Given the description of an element on the screen output the (x, y) to click on. 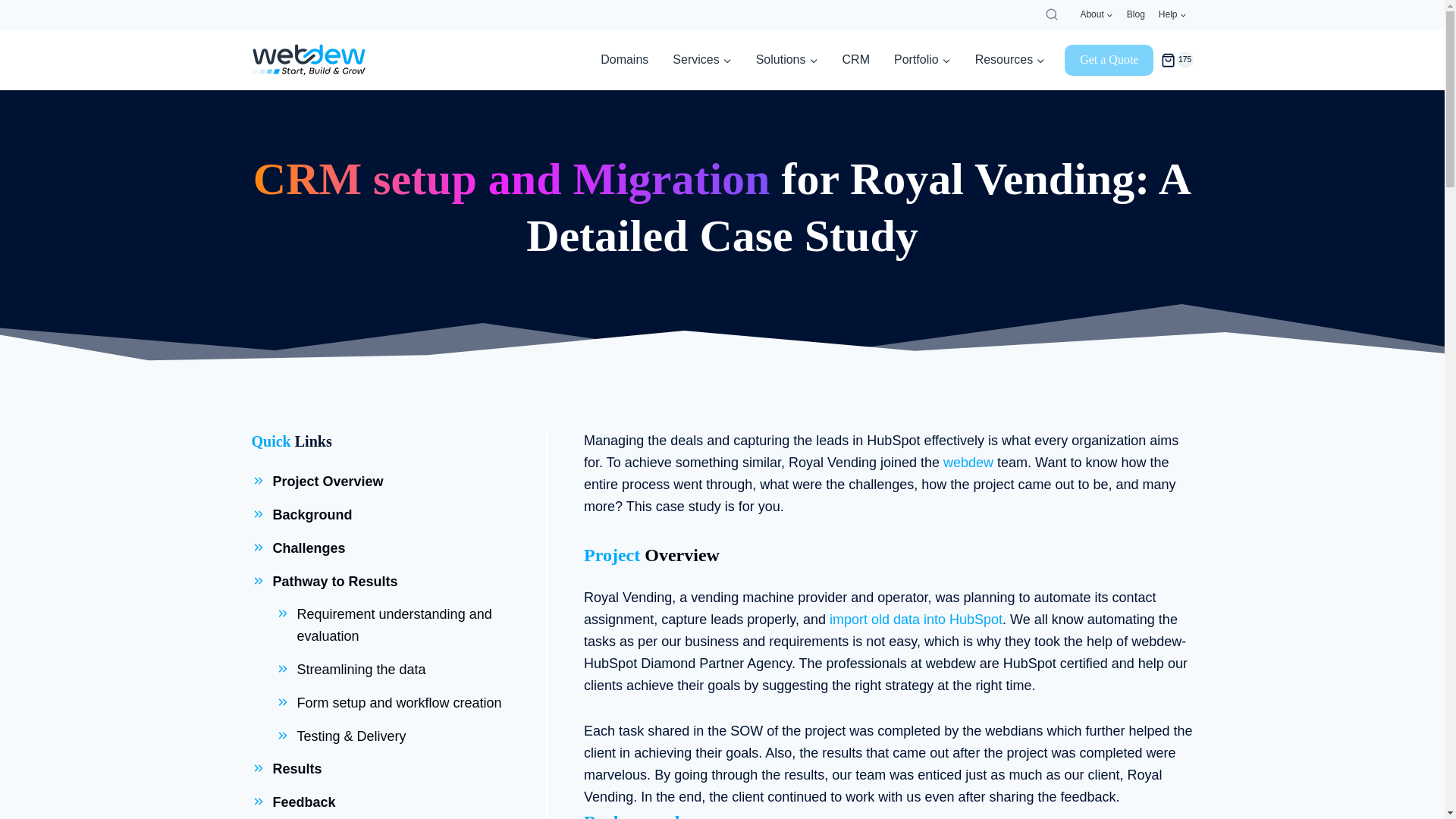
Services (701, 59)
About (1096, 14)
Blog (1135, 14)
Domains (624, 59)
Help (1172, 14)
